Given the description of an element on the screen output the (x, y) to click on. 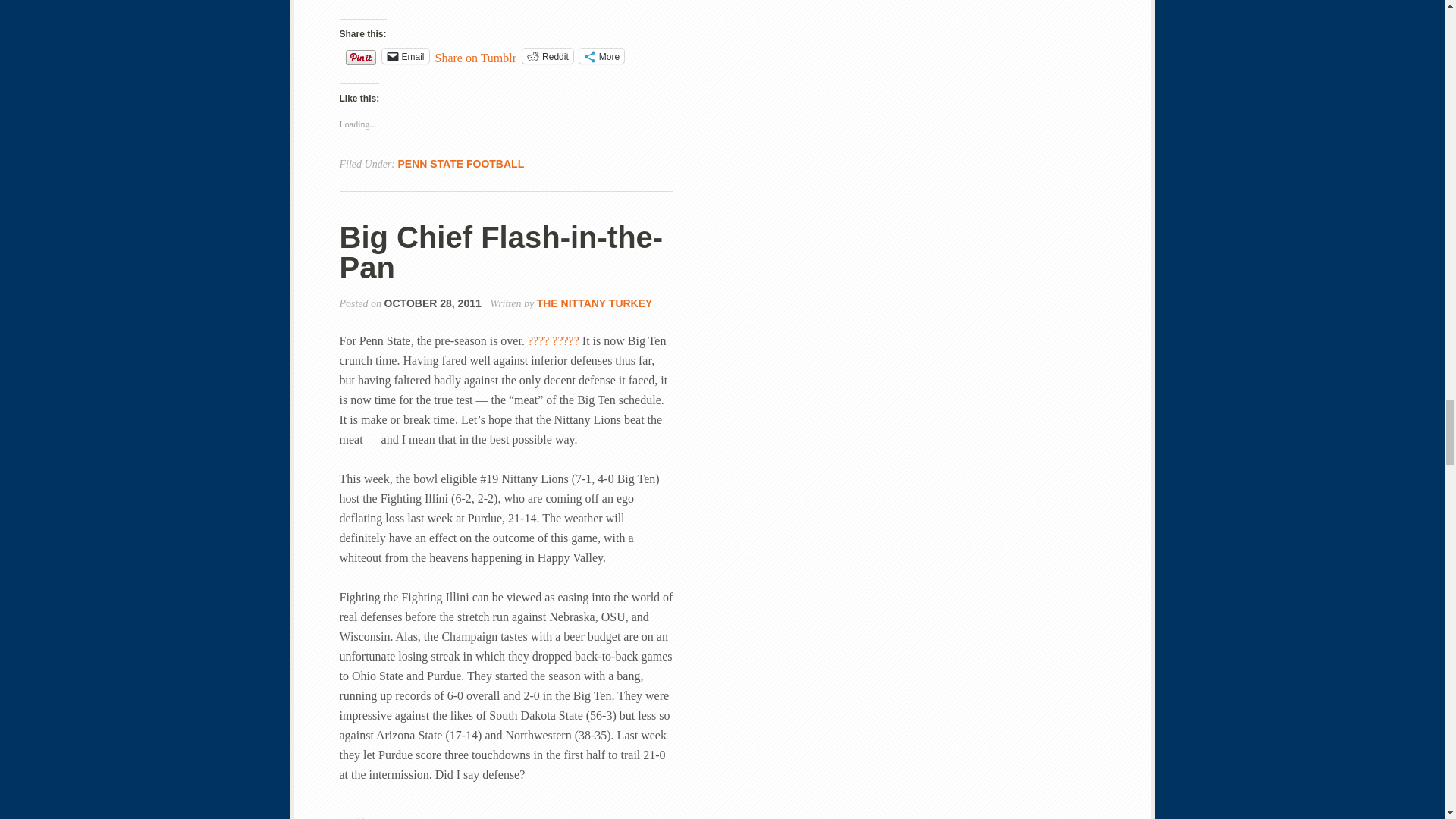
Share on Tumblr (475, 55)
Share on Tumblr (475, 55)
Click to share on Reddit (547, 55)
Click to email a link to a friend (405, 55)
Email (405, 55)
